Given the description of an element on the screen output the (x, y) to click on. 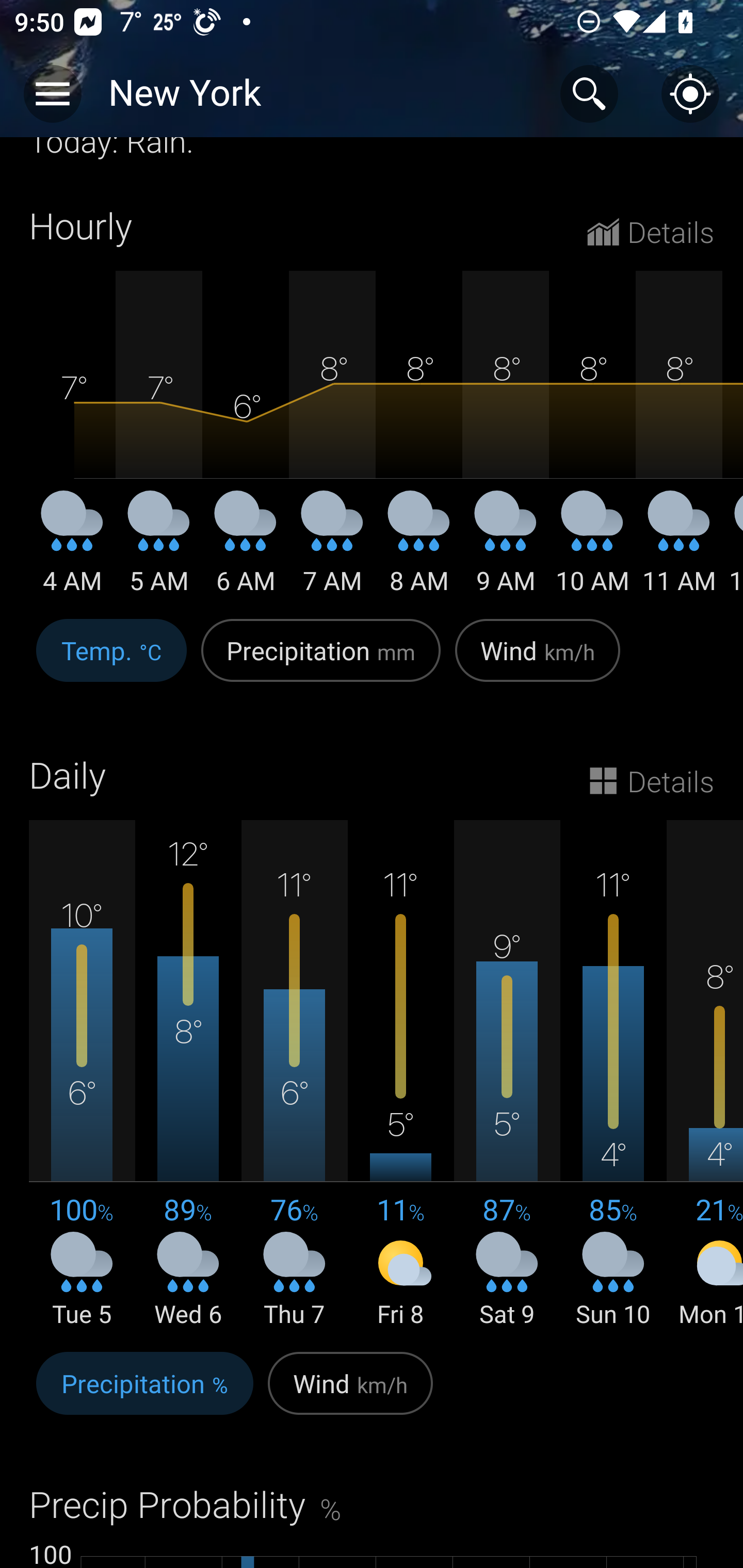
4 AM (71, 549)
5 AM (158, 549)
6 AM (245, 549)
7 AM (332, 549)
8 AM (418, 549)
9 AM (505, 549)
10 AM (592, 549)
11 AM (679, 549)
Temp. °C (110, 660)
Precipitation mm (320, 660)
Wind km/h (537, 660)
10° 6° 100 % Tue 5 (81, 1074)
12° 8° 89 % Wed 6 (188, 1074)
11° 6° 76 % Thu 7 (294, 1074)
11° 5° 11 % Fri 8 (400, 1074)
9° 5° 87 % Sat 9 (506, 1074)
11° 4° 85 % Sun 10 (613, 1074)
8° 4° 21 % Mon 11 (704, 1074)
Precipitation % (144, 1394)
Wind km/h (349, 1394)
